Given the description of an element on the screen output the (x, y) to click on. 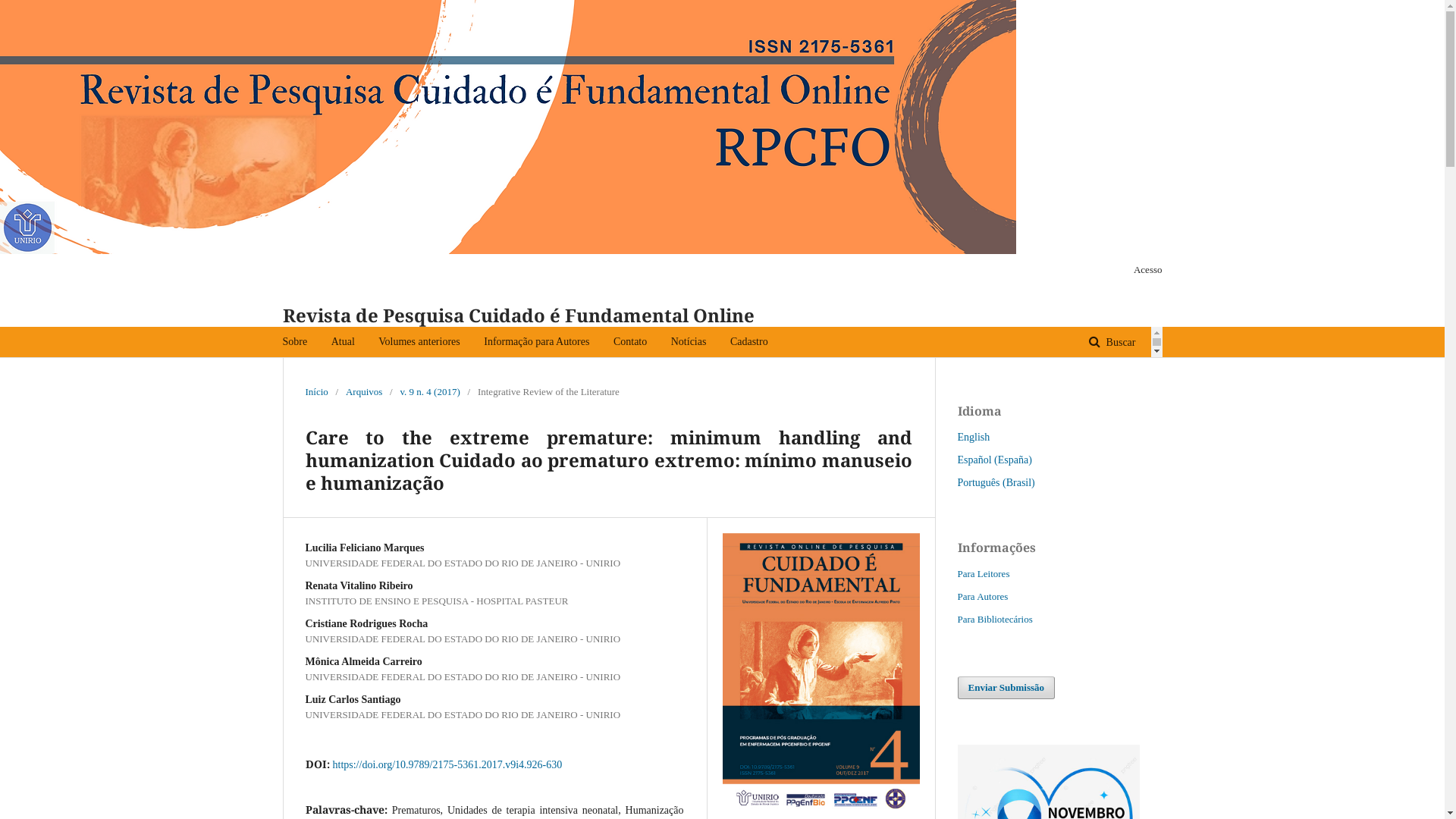
Para Leitores Element type: text (983, 573)
Cadastro Element type: text (749, 341)
Atual Element type: text (342, 341)
https://doi.org/10.9789/2175-5361.2017.v9i4.926-630 Element type: text (446, 764)
Volumes anteriores Element type: text (418, 341)
Sobre Element type: text (294, 341)
Acesso Element type: text (1144, 269)
Buscar Element type: text (1111, 341)
Contato Element type: text (629, 341)
Arquivos Element type: text (363, 391)
English Element type: text (973, 436)
v. 9 n. 4 (2017) Element type: text (429, 391)
Para Autores Element type: text (982, 596)
